Given the description of an element on the screen output the (x, y) to click on. 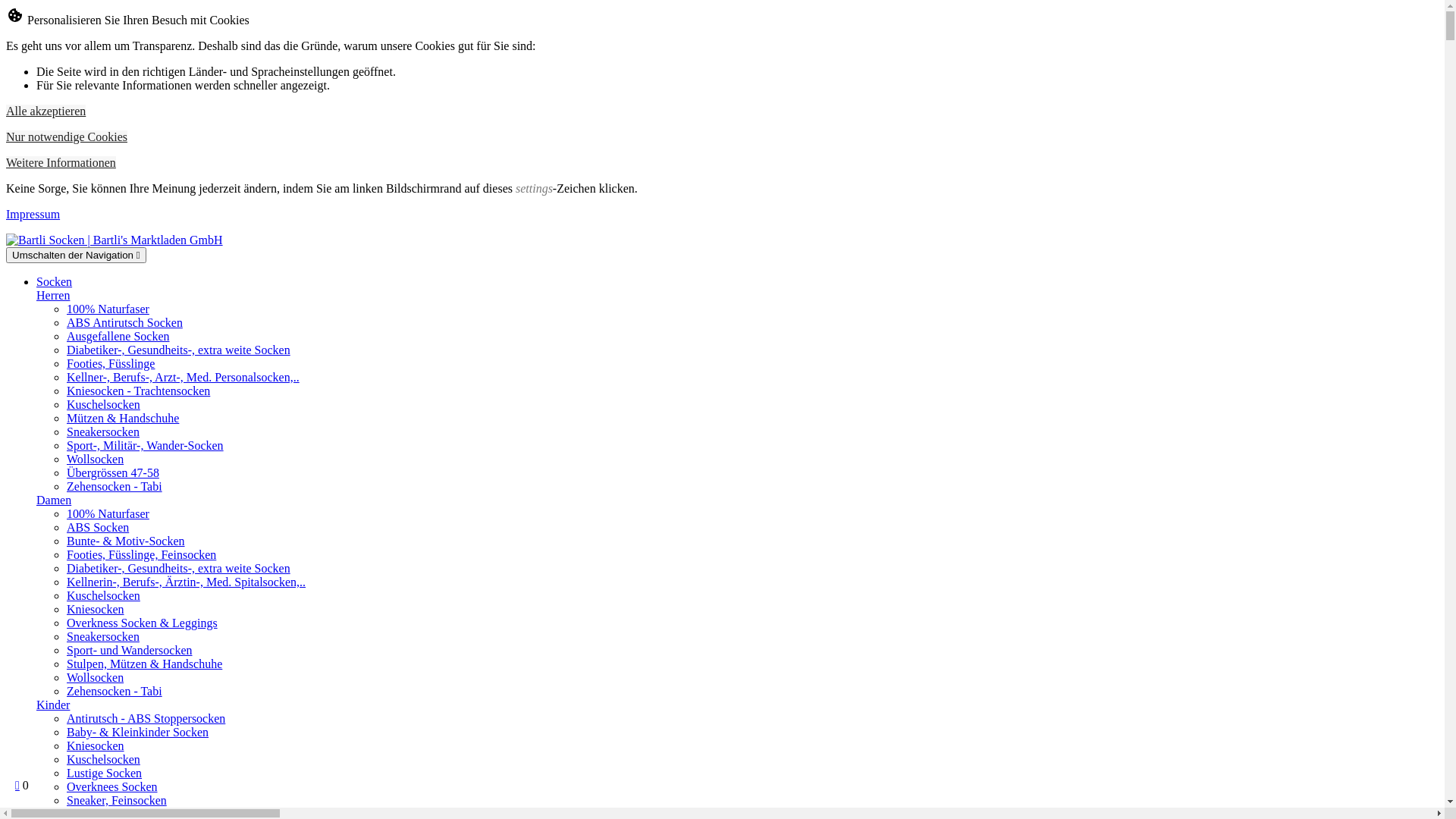
Abonnieren Element type: text (31, 7)
Sport- und Wandersocken Element type: text (129, 649)
Zehensocken - Tabi Element type: text (114, 690)
Overknees Socken Element type: text (111, 786)
Baby- & Kleinkinder Socken Element type: text (137, 731)
Kuschelsocken Element type: text (103, 595)
Zehensocken - Tabi Element type: text (114, 486)
Nur notwendige Cookies Element type: text (66, 136)
Overkness Socken & Leggings Element type: text (141, 622)
ABS Antirutsch Socken Element type: text (124, 322)
Diabetiker-, Gesundheits-, extra weite Socken Element type: text (178, 567)
Damen Element type: text (53, 499)
Antirutsch - ABS Stoppersocken Element type: text (145, 718)
Impressum Element type: text (32, 213)
Kinder Element type: text (52, 704)
Weitere Informationen Element type: text (61, 162)
Bunte- & Motiv-Socken Element type: text (125, 540)
Kuschelsocken Element type: text (103, 759)
Sneaker, Feinsocken Element type: text (116, 799)
Kniesocken Element type: text (95, 608)
ABS Socken Element type: text (97, 526)
Lustige Socken Element type: text (103, 772)
Herren Element type: text (52, 294)
Diabetiker-, Gesundheits-, extra weite Socken Element type: text (178, 349)
Kuschelsocken Element type: text (103, 404)
Socken Element type: text (54, 281)
100% Naturfaser Element type: text (107, 308)
Wollsocken Element type: text (94, 677)
Alle akzeptieren Element type: text (45, 110)
100% Naturfaser Element type: text (107, 513)
Kellner-, Berufs-, Arzt-, Med. Personalsocken,.. Element type: text (182, 376)
Kniesocken Element type: text (95, 745)
Ausgefallene Socken Element type: text (117, 335)
Sneakersocken Element type: text (102, 636)
Wollsocken Element type: text (94, 458)
Sneakersocken Element type: text (102, 431)
Kniesocken - Trachtensocken Element type: text (138, 390)
